Given the description of an element on the screen output the (x, y) to click on. 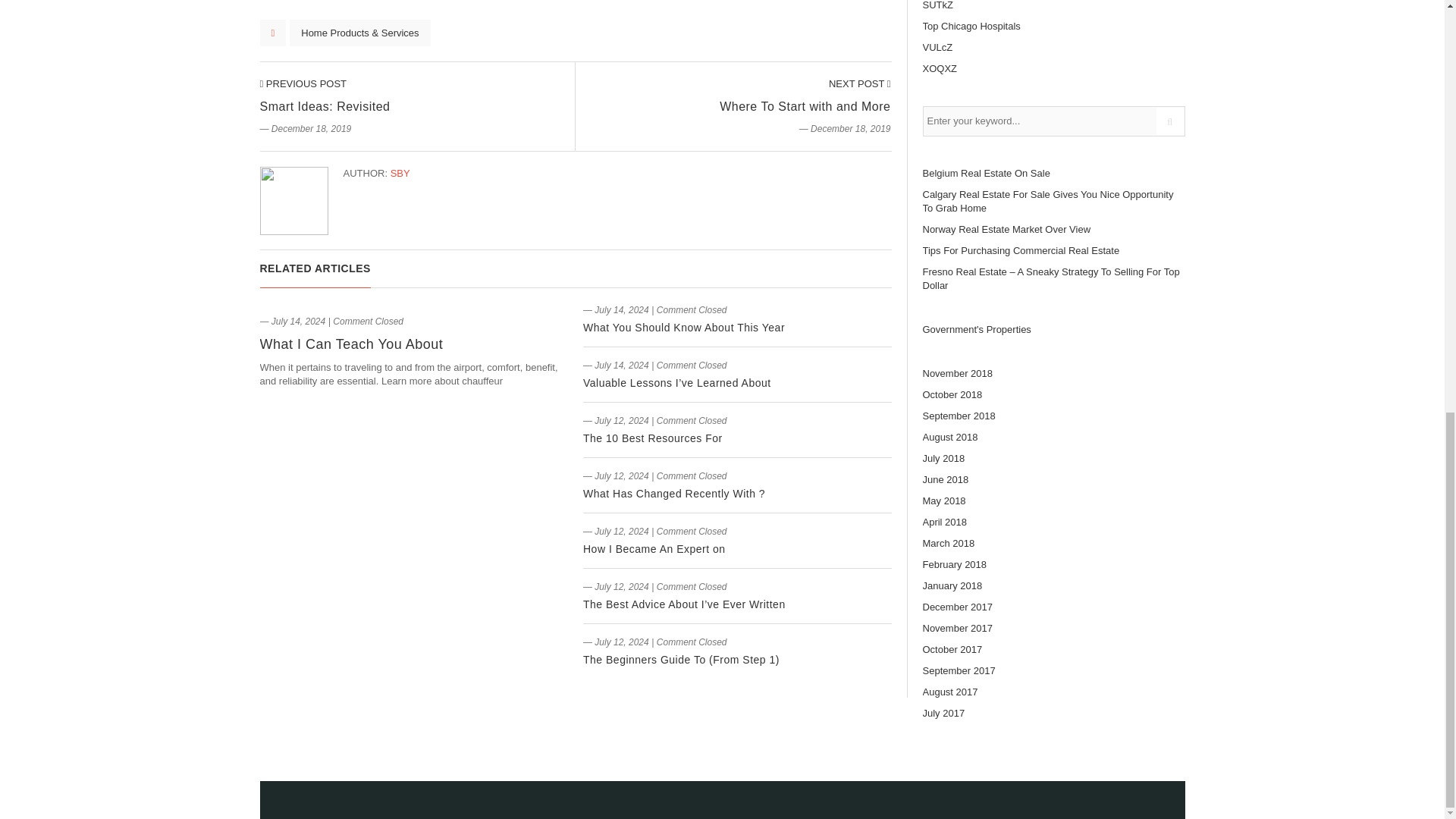
What Has Changed Recently With ? (674, 493)
Where To Start with and More (804, 106)
Smart Ideas: Revisited (324, 106)
How I Became An Expert on (654, 548)
Top Chicago Hospitals (970, 25)
SUTkZ (936, 5)
Where To Start with  and More (859, 83)
The 10 Best Resources For (652, 438)
What You Should Know About This Year (683, 327)
What Has Changed Recently With ? (674, 493)
